Given the description of an element on the screen output the (x, y) to click on. 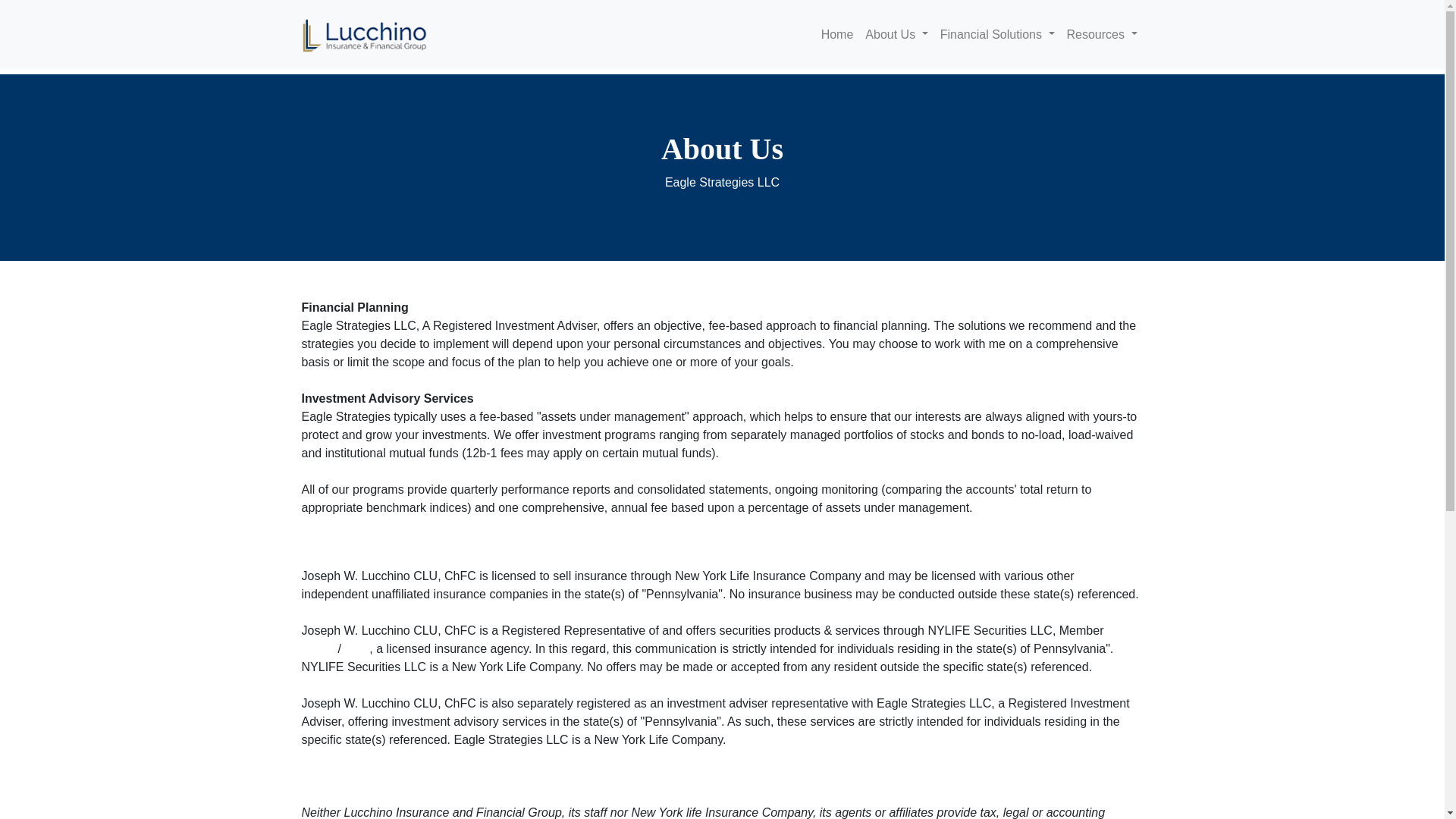
SIPC (354, 648)
FINRA (319, 648)
Resources (1100, 34)
About Us (896, 34)
Financial Solutions (997, 34)
Home (837, 34)
